Given the description of an element on the screen output the (x, y) to click on. 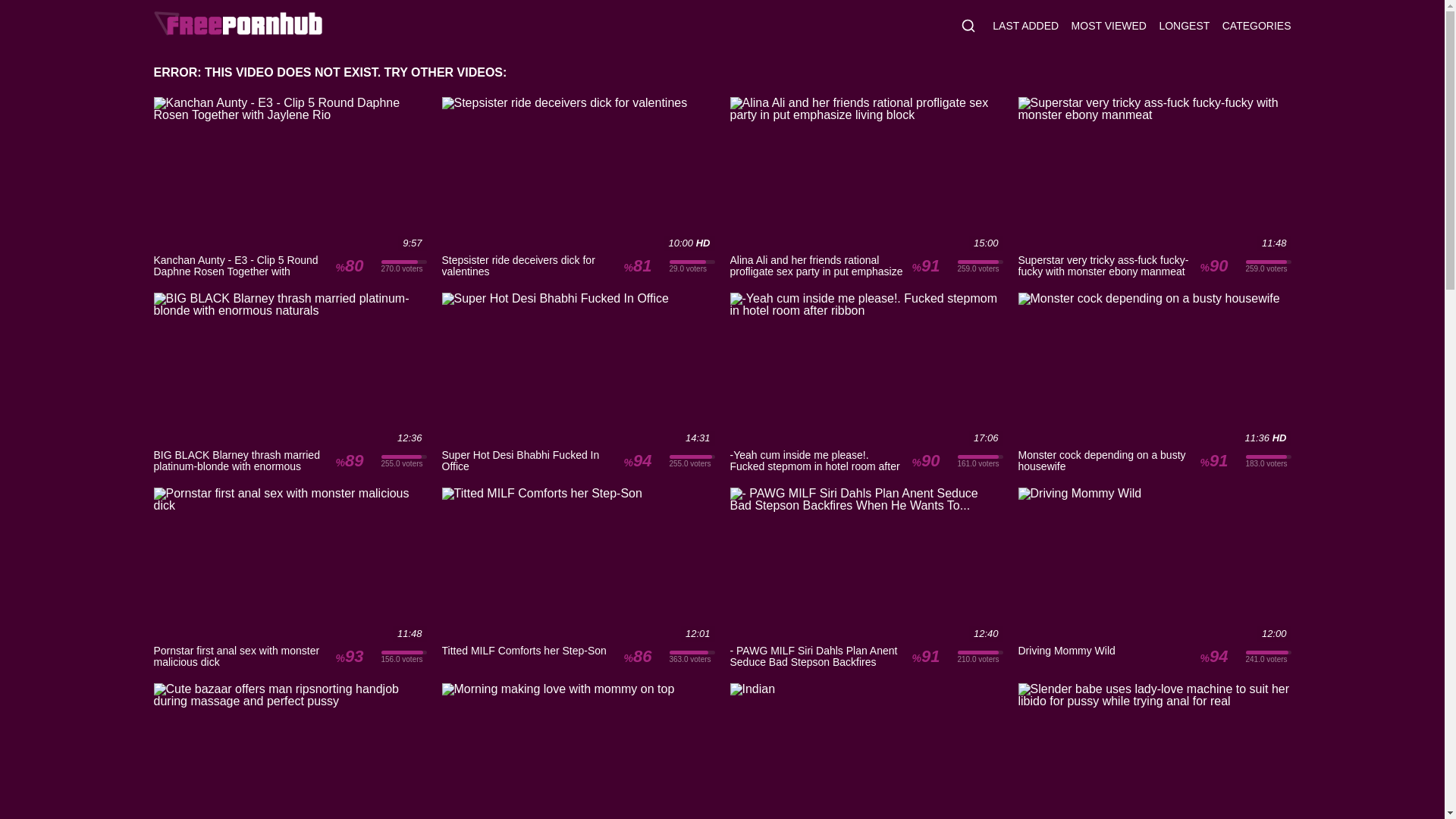
LAST ADDED Element type: text (1025, 25)
CATEGORIES Element type: text (1256, 25)
14:31
Super Hot Desi Bhabhi Fucked In Office
94
255.0 voters Element type: text (577, 382)
MOST VIEWED Element type: text (1108, 25)
12:00
Driving Mommy Wild
94
241.0 voters Element type: text (1153, 577)
LONGEST Element type: text (1183, 25)
12:01
Titted MILF Comforts her Step-Son
86
363.0 voters Element type: text (577, 577)
